Given the description of an element on the screen output the (x, y) to click on. 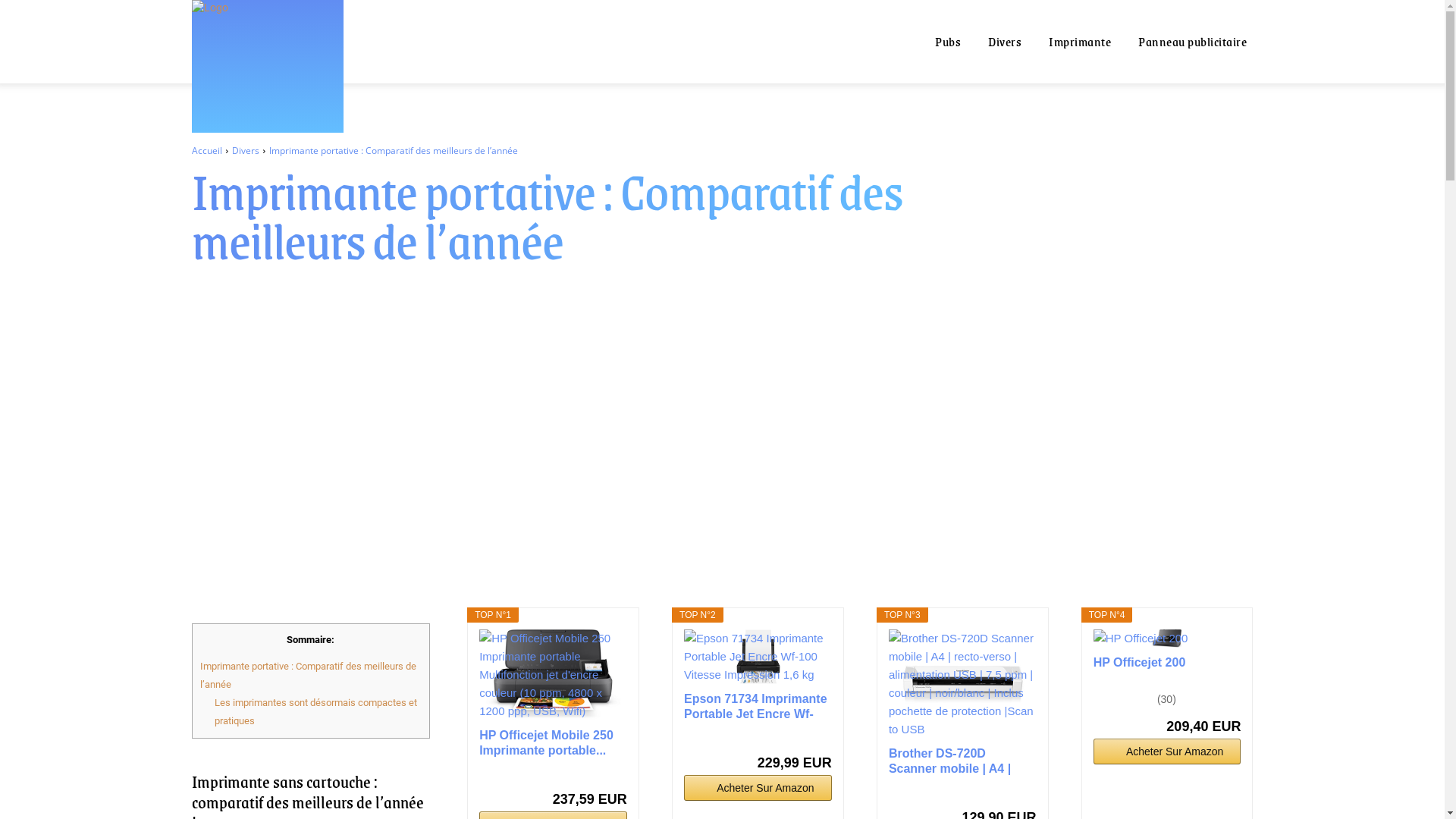
Panneau publicitaire Element type: text (1192, 41)
HP Officejet 200 Element type: hover (1167, 638)
Accueil Element type: text (206, 150)
Amazon Prime Element type: hover (1015, 791)
HP Officejet Mobile 250 Imprimante portable... Element type: text (553, 743)
Acheter Sur Amazon Element type: text (757, 787)
Acheter Sur Amazon Element type: text (1167, 751)
Brother DS-720D Scanner mobile | A4 | recto-verso... Element type: text (962, 761)
HP Officejet 200 Element type: text (1167, 670)
Epson 71734 Imprimante Portable Jet Encre Wf-100... Element type: text (757, 706)
Divers Element type: text (245, 150)
Amazon Prime Element type: hover (810, 737)
Pubs Element type: text (947, 41)
Commentaires sur Amazon Element type: hover (1123, 699)
Divers Element type: text (1004, 41)
Imprimante Element type: text (1079, 41)
